Given the description of an element on the screen output the (x, y) to click on. 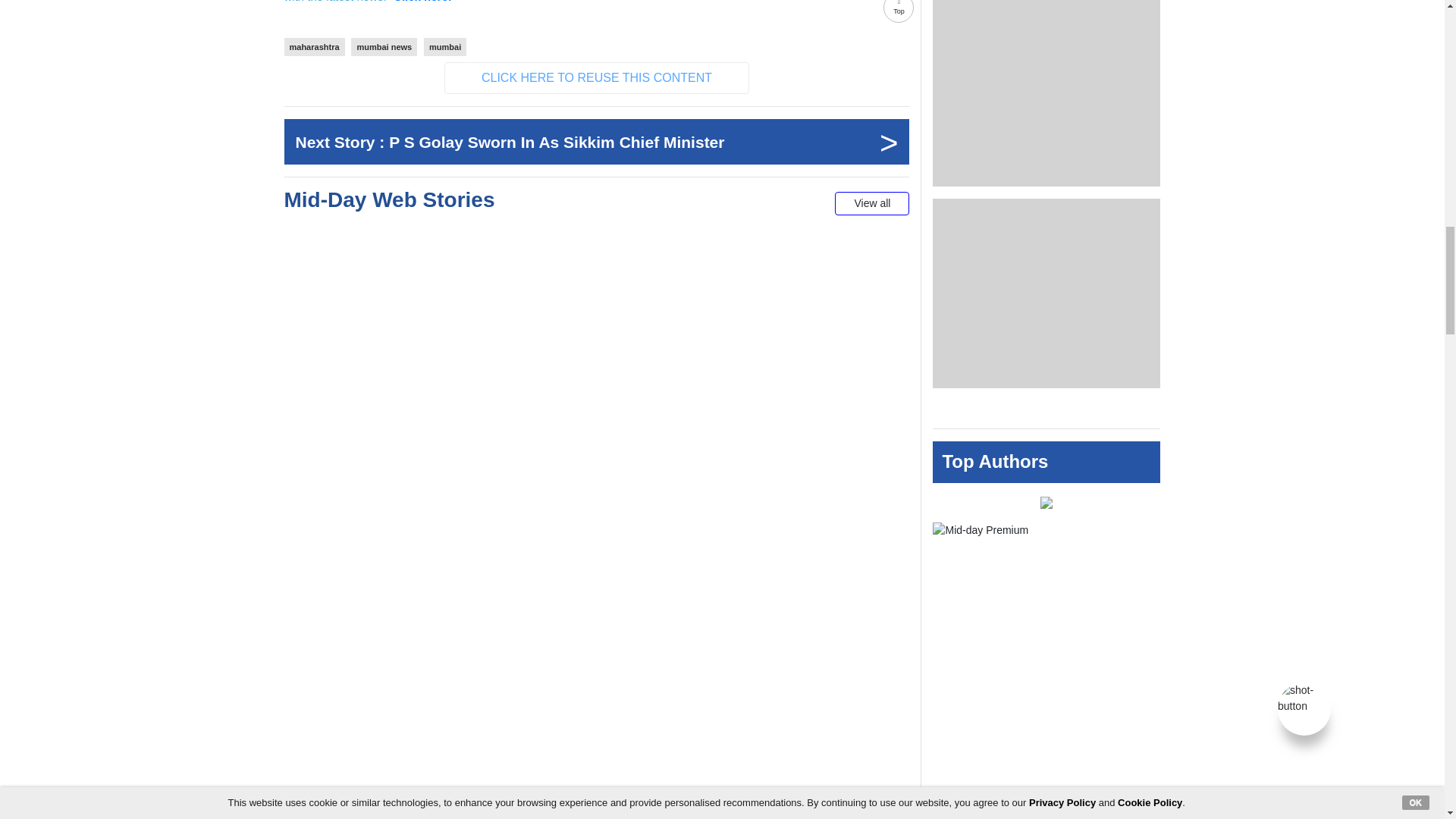
Top (898, 15)
